Given the description of an element on the screen output the (x, y) to click on. 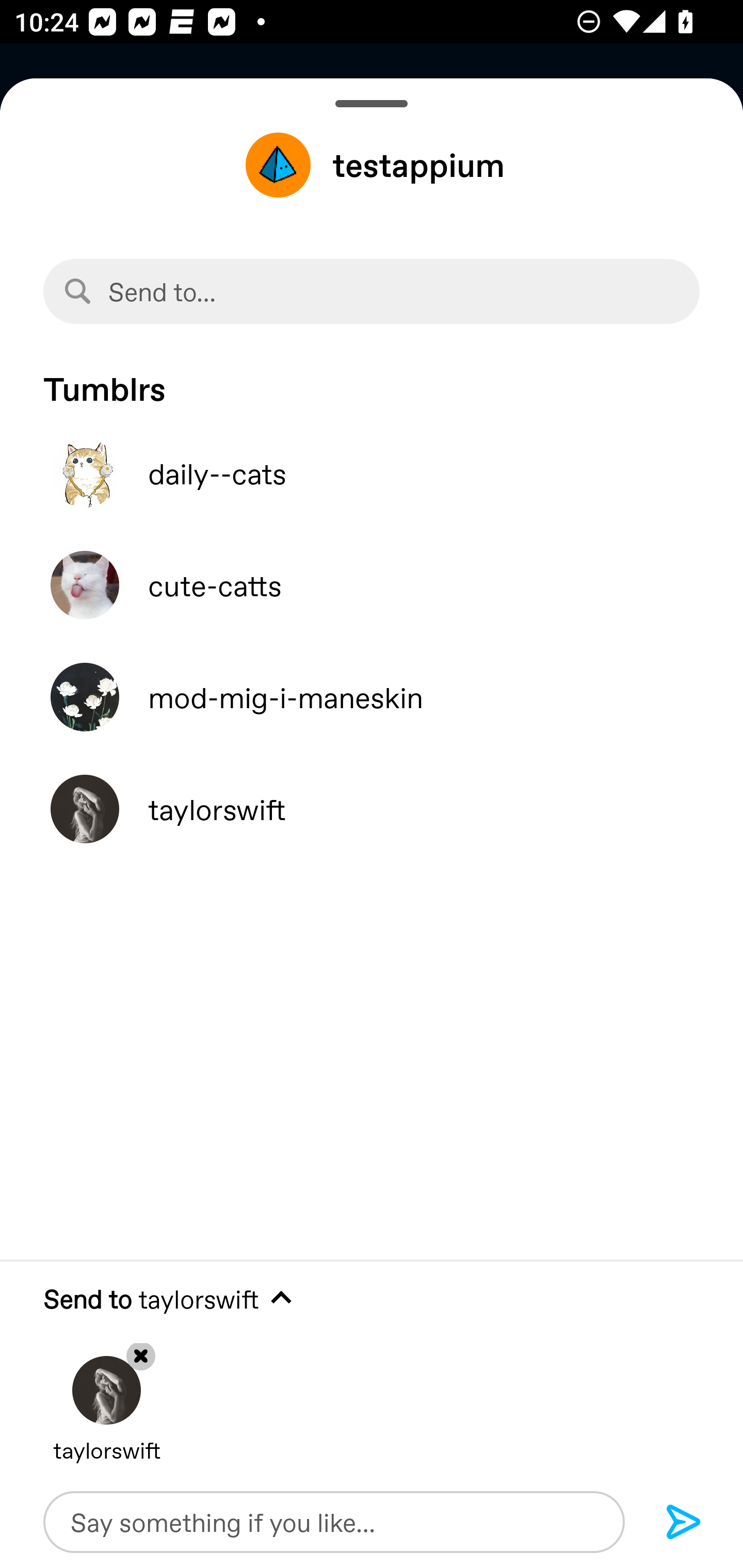
testappium (371, 164)
Send to… (371, 291)
Tumblrs (371, 379)
daily--cats (371, 473)
cute-catts (371, 585)
mod-mig-i-maneskin (371, 696)
taylorswift (371, 808)
Send to taylorswift (371, 1298)
Dismiss taylorswift (106, 1395)
Send (683, 1522)
Say something if you like… (333, 1521)
